Given the description of an element on the screen output the (x, y) to click on. 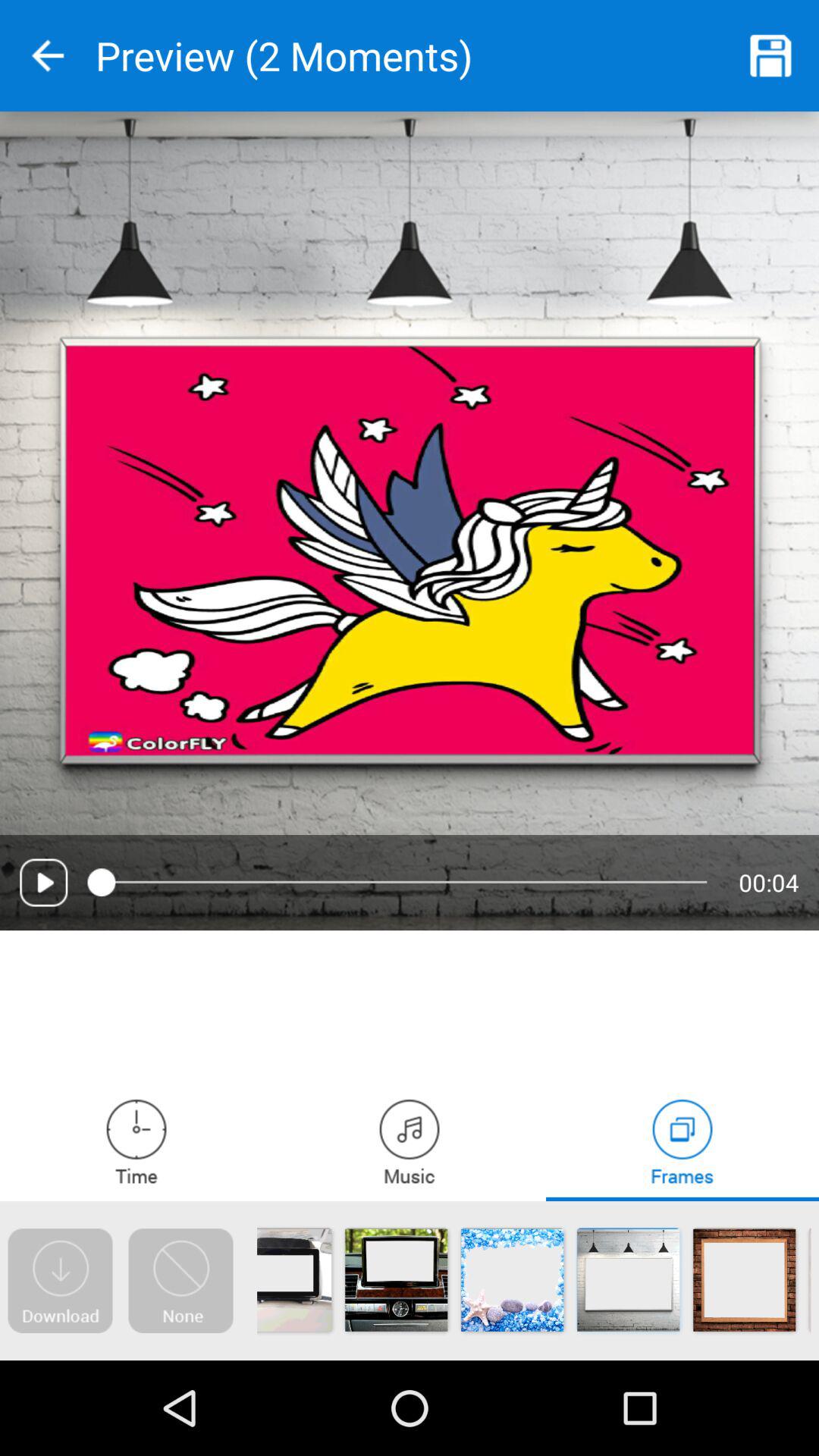
select time (136, 1141)
